Given the description of an element on the screen output the (x, y) to click on. 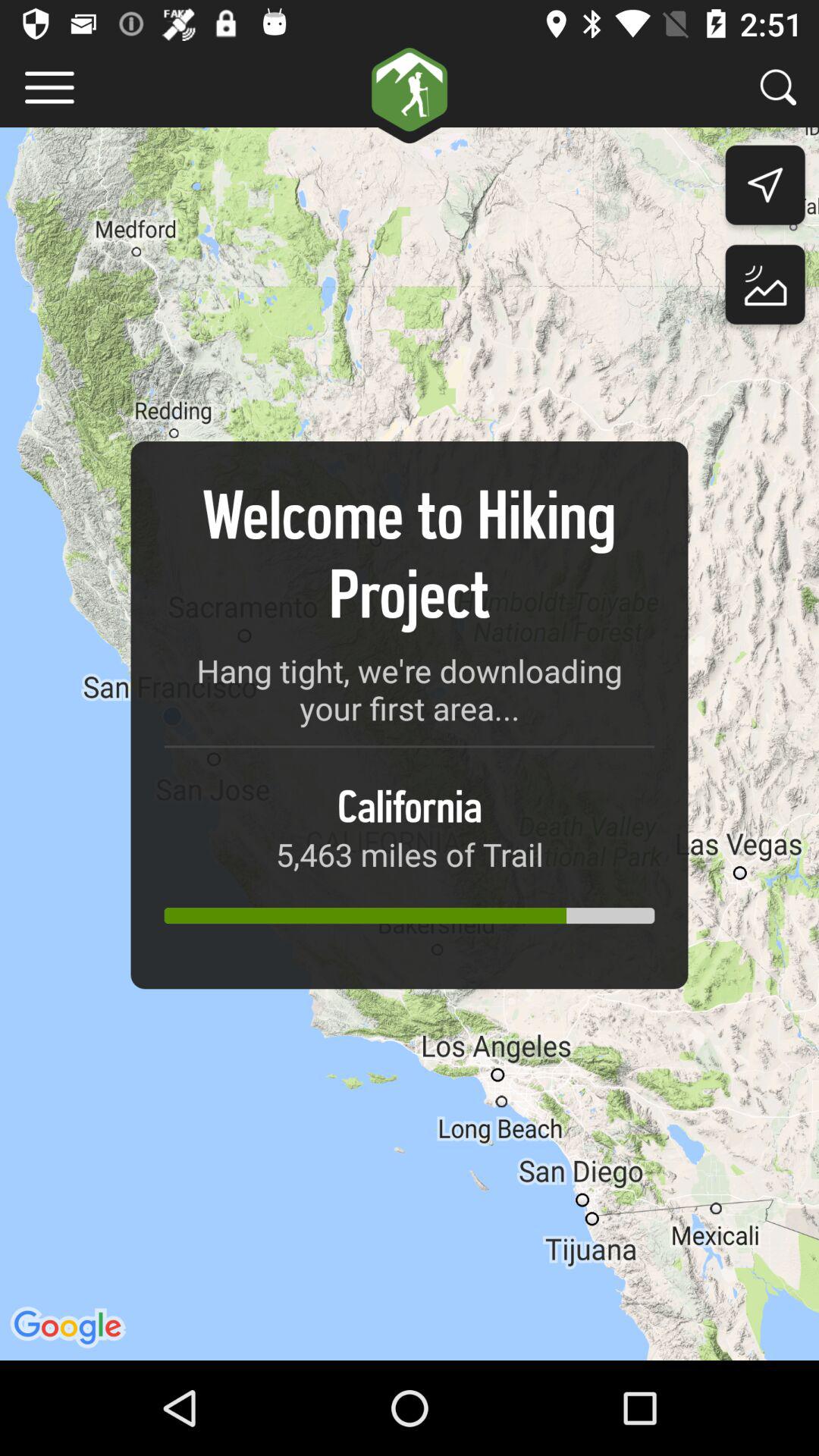
change terrainv iew (765, 288)
